Given the description of an element on the screen output the (x, y) to click on. 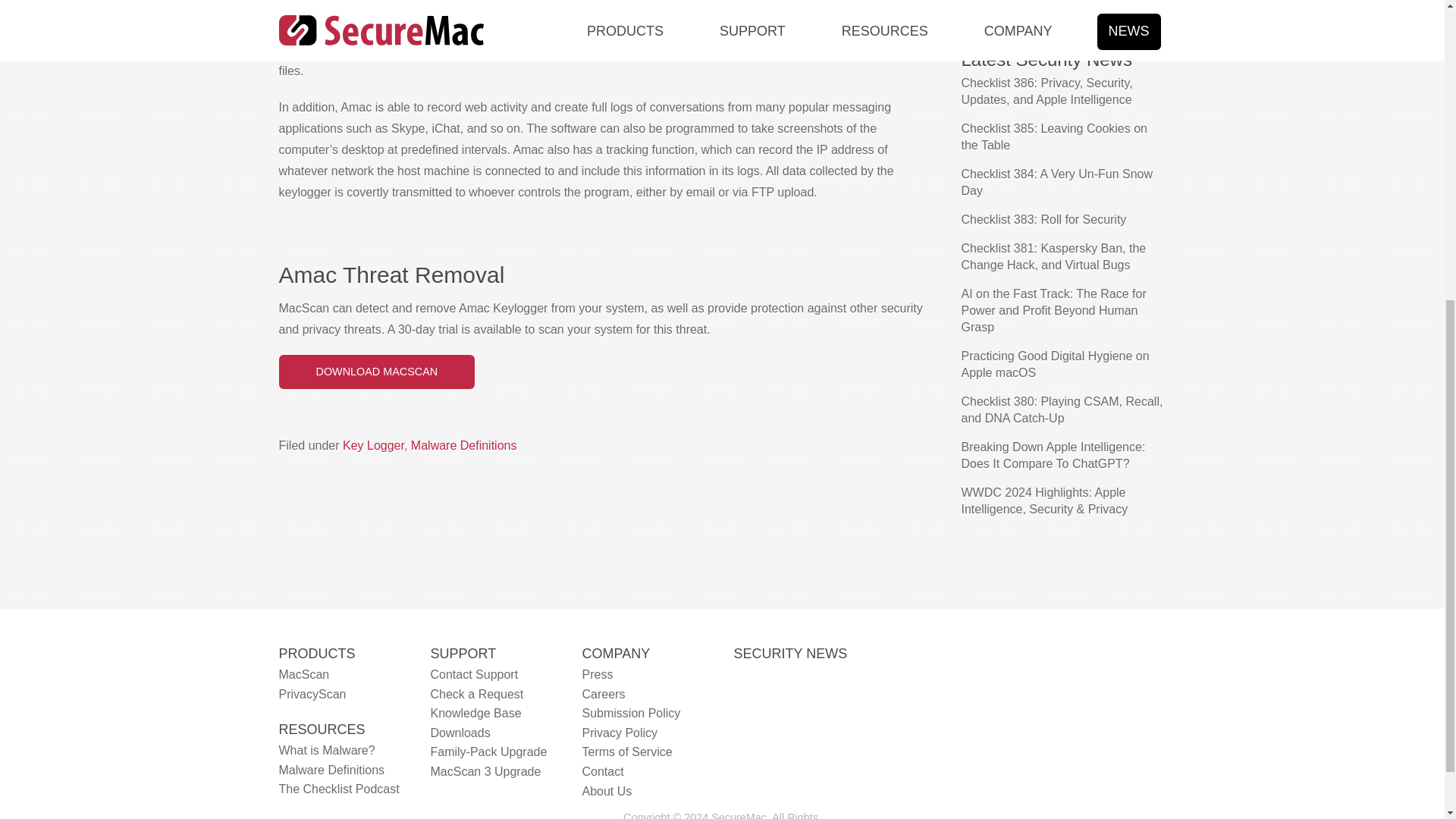
Checklist 385: Leaving Cookies on the Table (1053, 136)
MacScan (304, 674)
Malware Definitions (463, 445)
Practicing Good Digital Hygiene on Apple macOS (1055, 364)
Checklist 384: A Very Un-Fun Snow Day (1056, 182)
DOWNLOAD MACSCAN (377, 371)
Checklist 380: Playing CSAM, Recall, and DNA Catch-Up (1061, 409)
Checklist 383: Roll for Security (1043, 219)
Key Logger (373, 445)
